Given the description of an element on the screen output the (x, y) to click on. 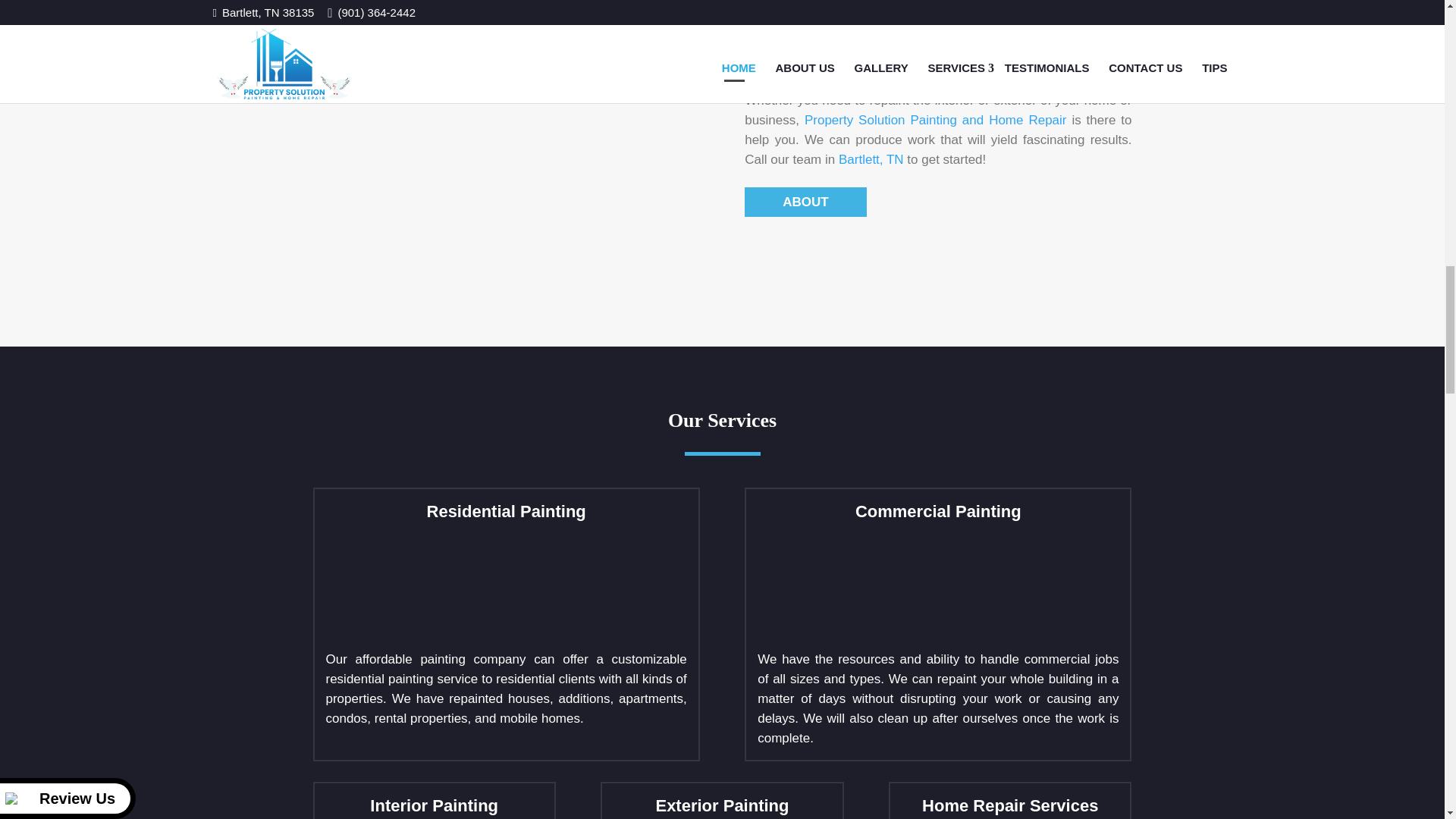
Residential Painting (439, 586)
Bartlett, TN (871, 159)
Commercial Painting (871, 586)
Property Solution Painting and Home Repair (936, 120)
ABOUT (805, 202)
painter (506, 142)
Learn More About Our Company (936, 120)
Read more about Property Solution Painting and Home Repair (805, 202)
